Given the description of an element on the screen output the (x, y) to click on. 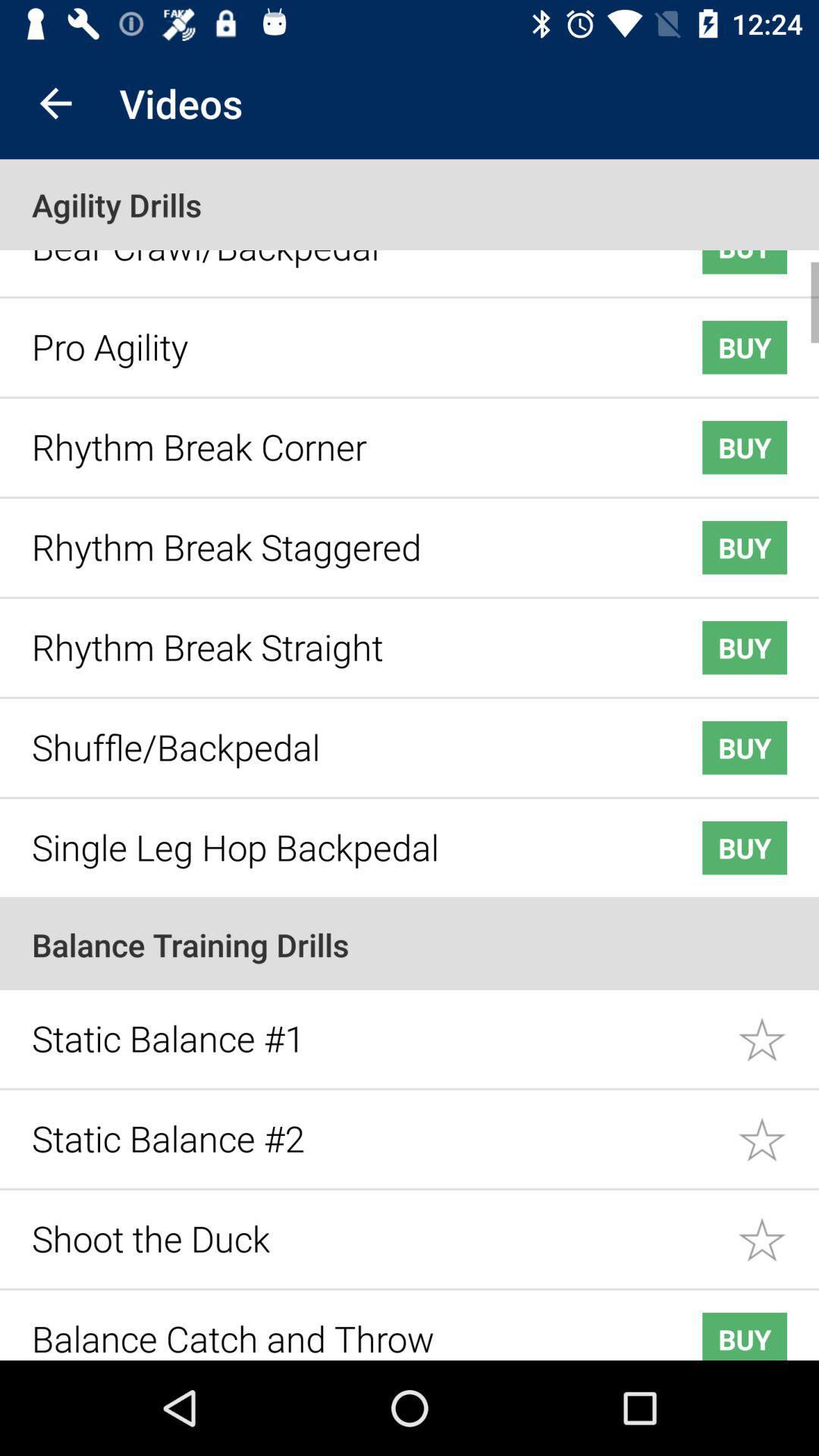
scroll to single leg hop icon (342, 836)
